Given the description of an element on the screen output the (x, y) to click on. 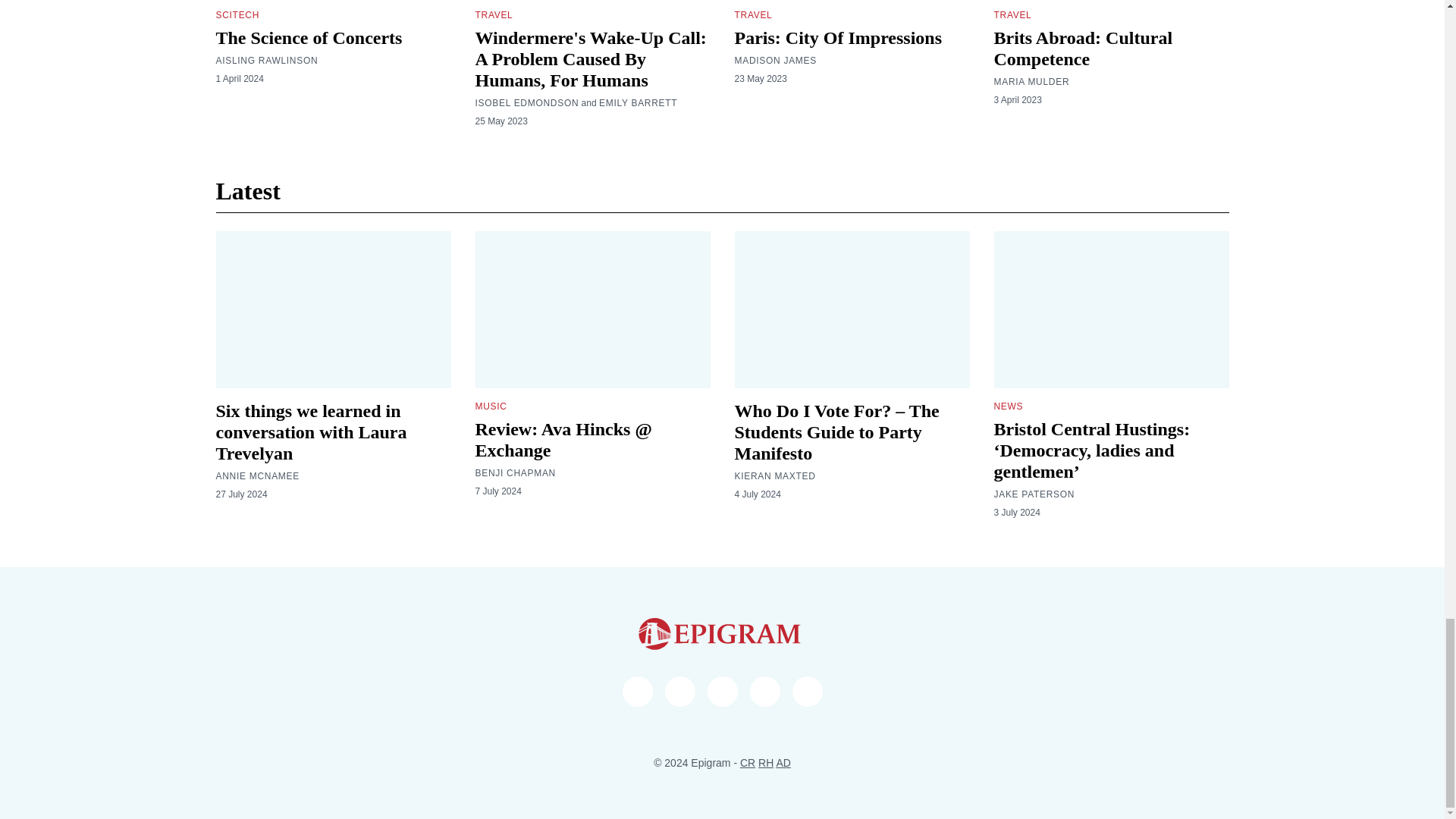
EMILY BARRETT (637, 102)
The Science of Concerts (308, 37)
ISOBEL EDMONDSON (526, 102)
SCITECH (237, 14)
AISLING RAWLINSON (266, 60)
TRAVEL (493, 14)
